Given the description of an element on the screen output the (x, y) to click on. 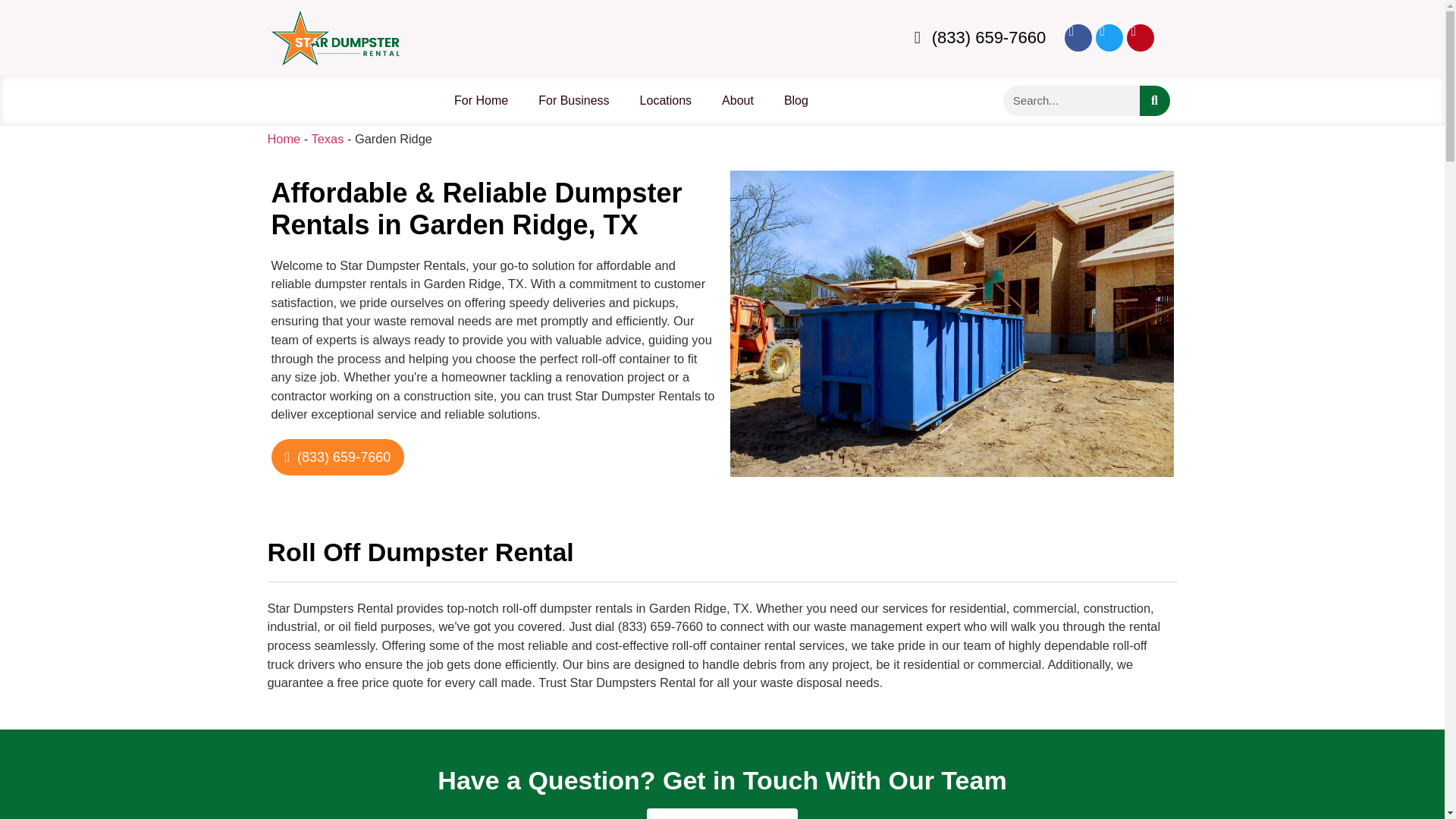
Texas (327, 138)
For Home (480, 100)
Home (282, 138)
Locations (665, 100)
About (737, 100)
For Business (573, 100)
Blog (796, 100)
